Given the description of an element on the screen output the (x, y) to click on. 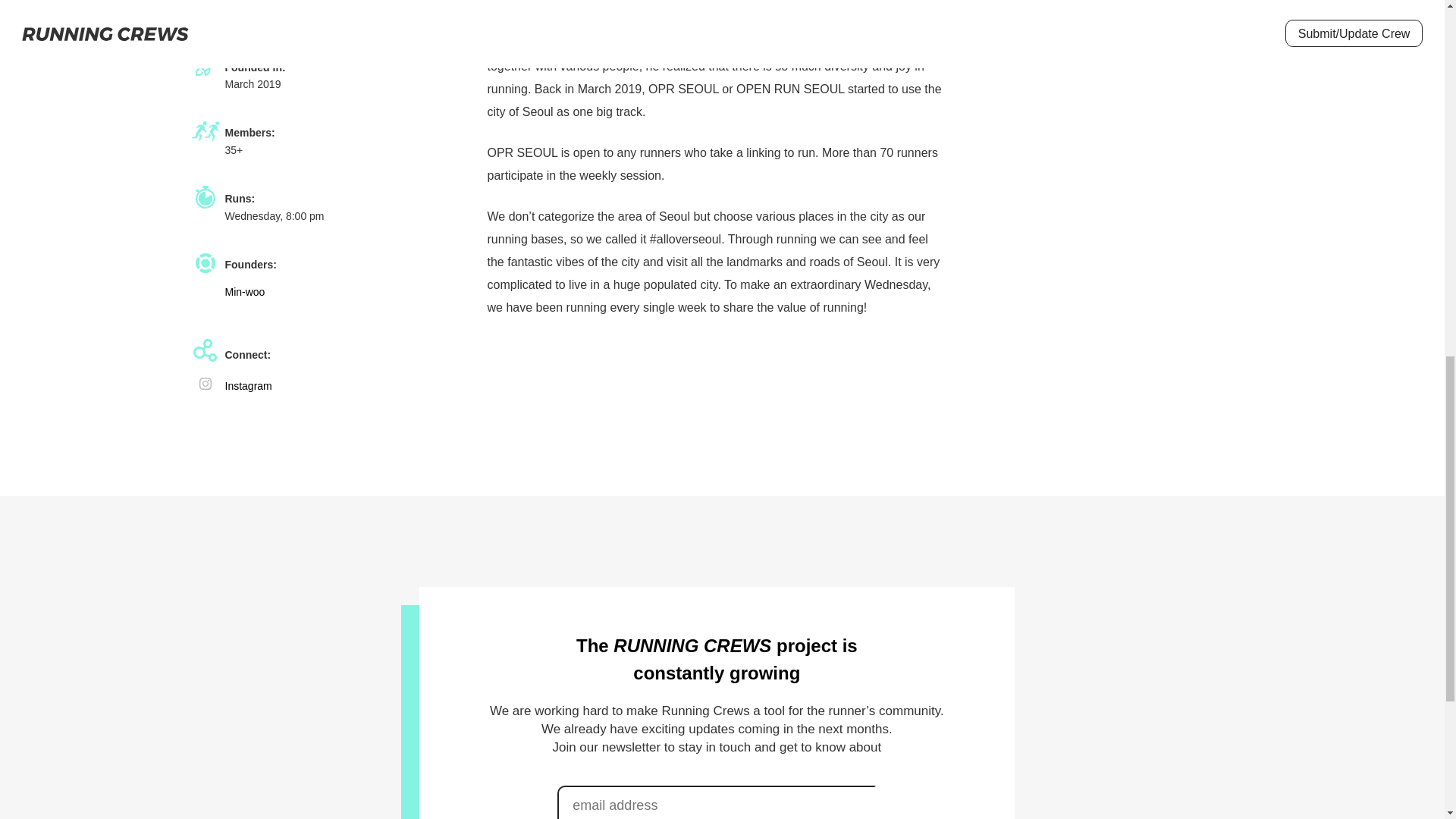
Min-woo (786, 20)
Min-woo (244, 291)
Instagram (247, 386)
